Given the description of an element on the screen output the (x, y) to click on. 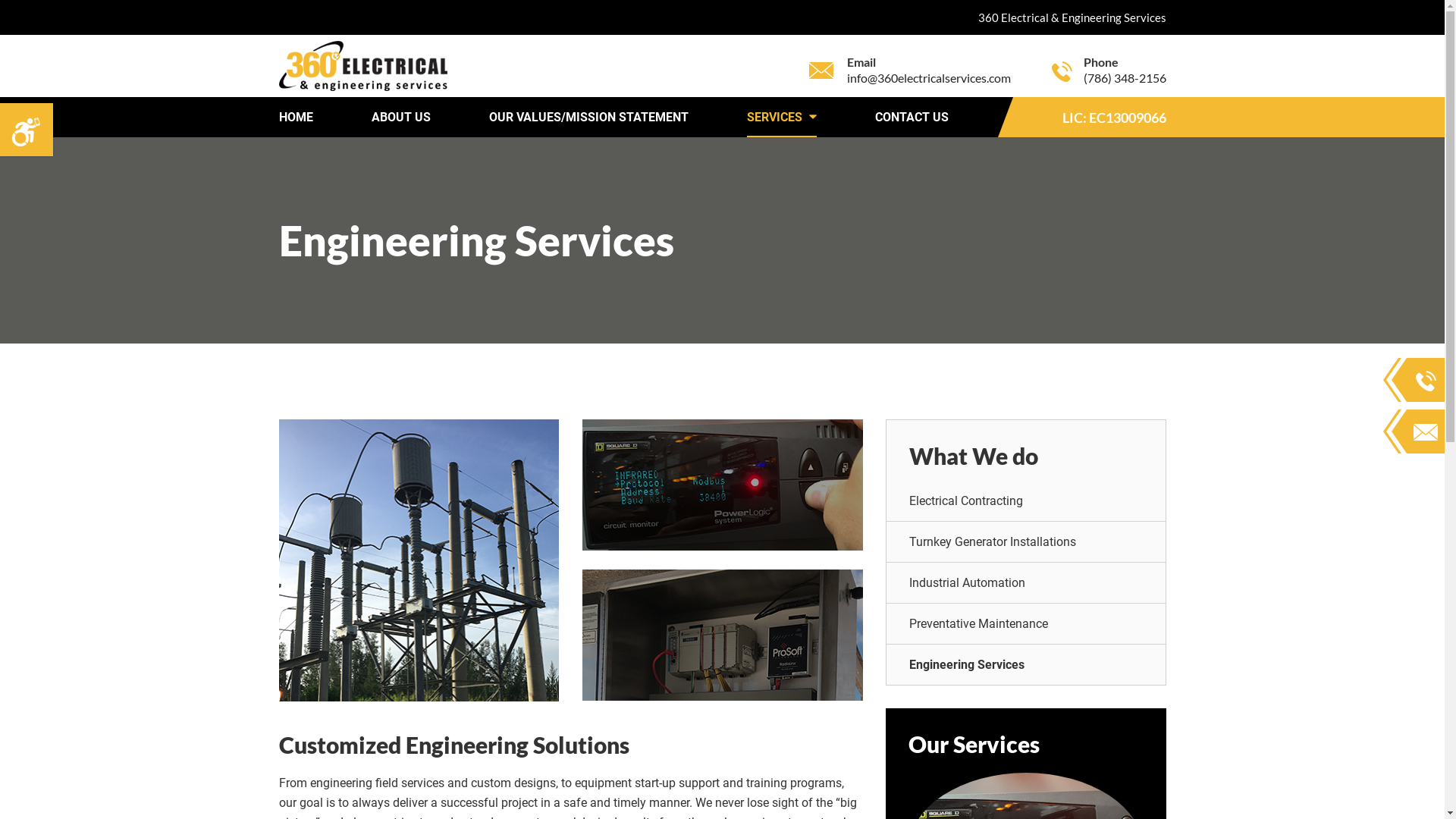
OUR VALUES/MISSION STATEMENT Element type: text (587, 117)
Electrical Contracting Element type: text (1024, 500)
ABOUT US Element type: text (400, 117)
Engineering Services Element type: text (1024, 664)
Preventative Maintenance Element type: text (1024, 623)
CONTACT US Element type: text (911, 117)
SERVICES Element type: text (780, 117)
Industrial Automation Element type: text (1024, 582)
Email
info@360electricalservices.com Element type: text (909, 68)
Phone
(786) 348-2156 Element type: text (1108, 68)
HOME Element type: text (296, 117)
Turnkey Generator Installations Element type: text (1024, 541)
